Given the description of an element on the screen output the (x, y) to click on. 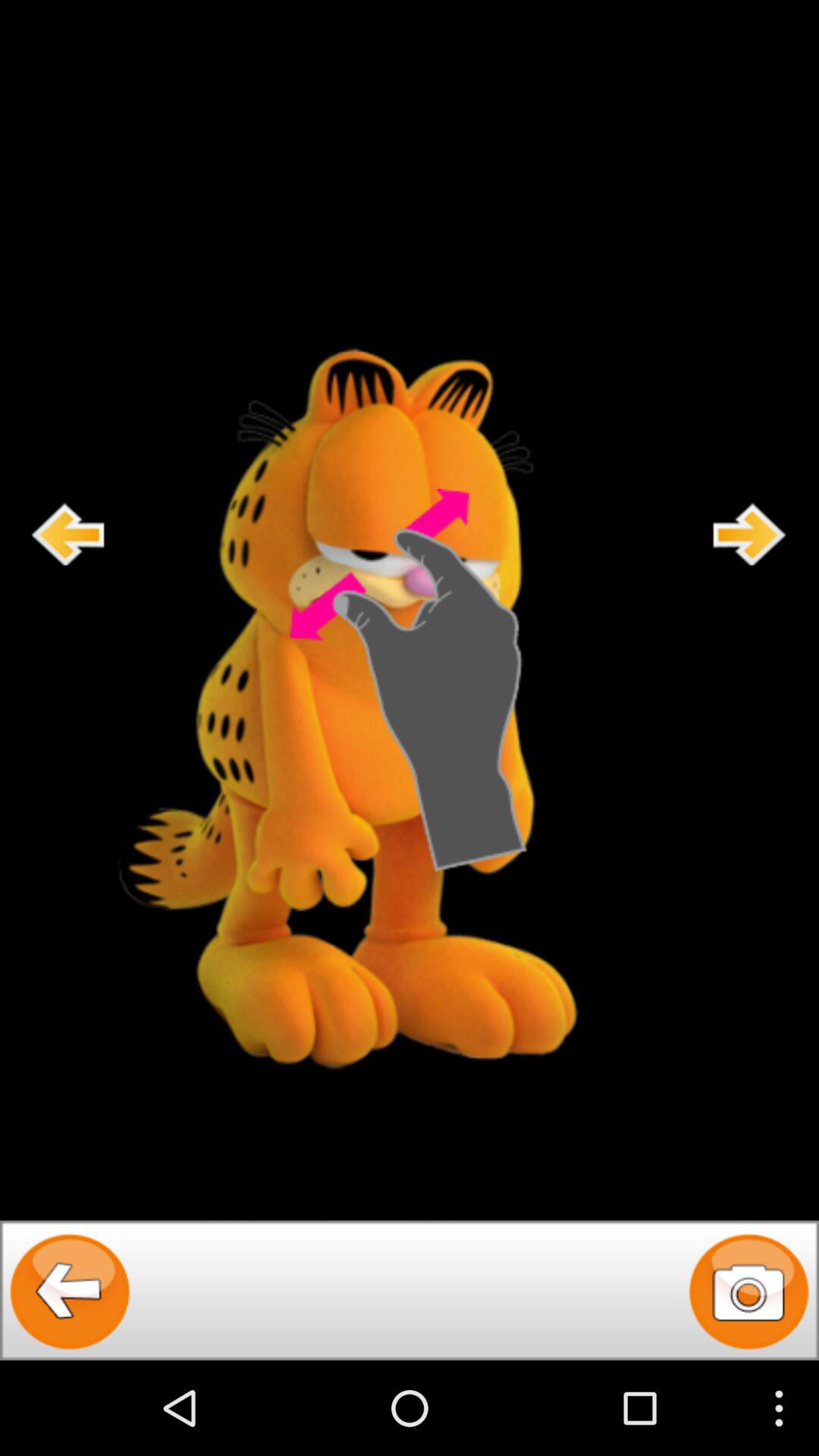
expand the screen (408, 680)
